Given the description of an element on the screen output the (x, y) to click on. 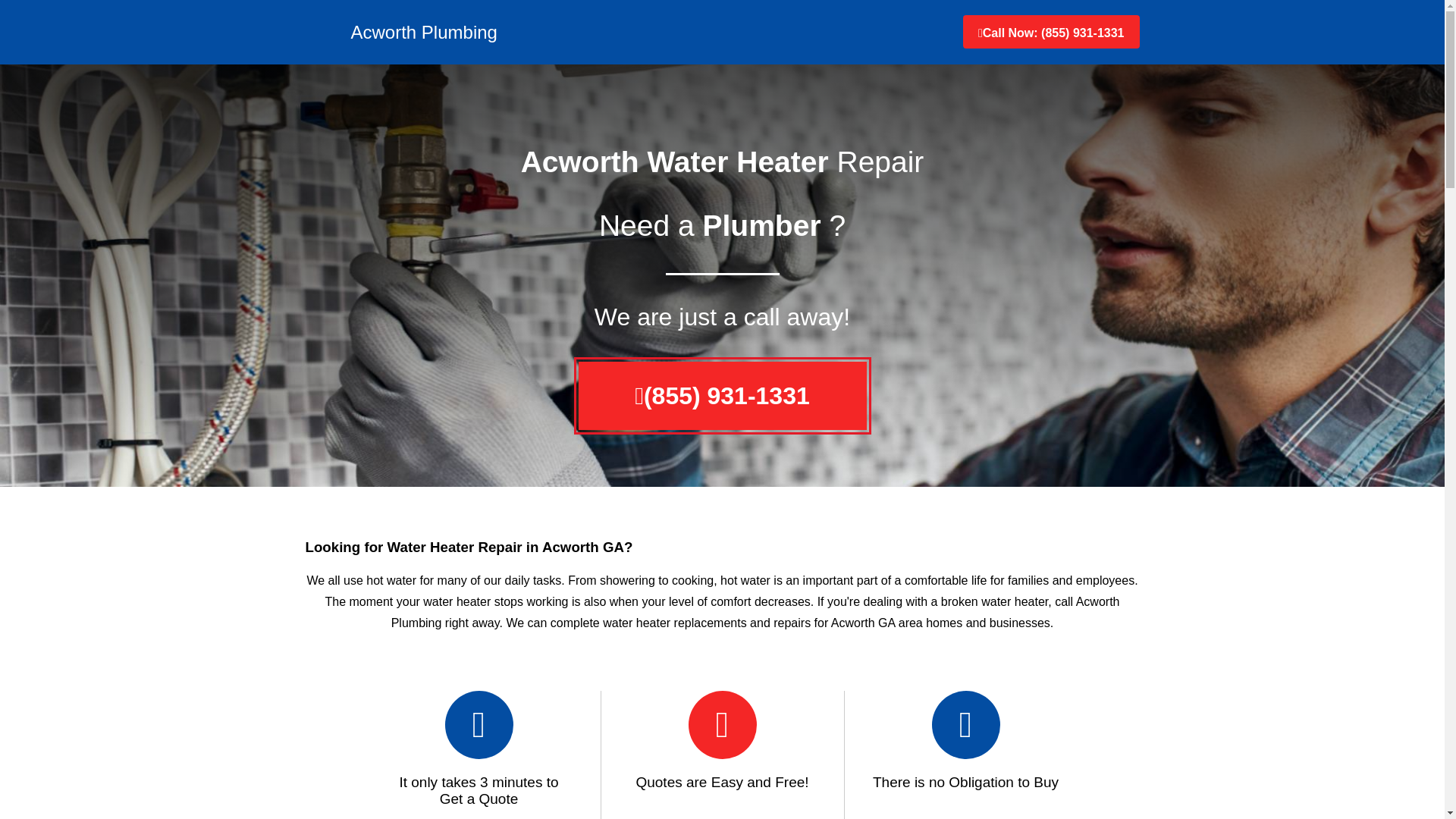
Acworth Plumbing (400, 32)
